Given the description of an element on the screen output the (x, y) to click on. 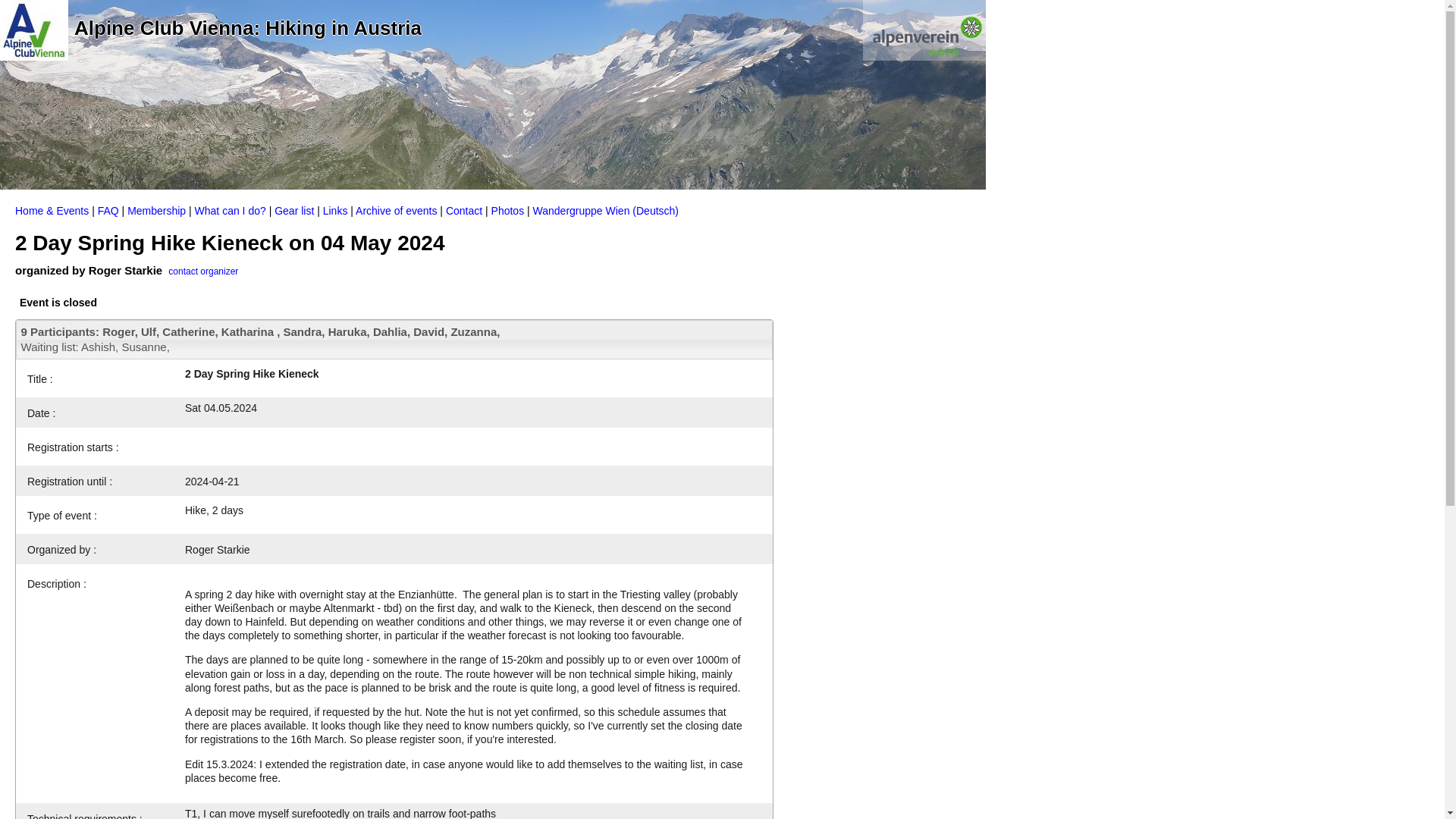
Gear list (294, 210)
What can I do? (230, 210)
Photos (508, 210)
Links (335, 210)
Contact (463, 210)
Archive of events (395, 210)
contact organizer (203, 270)
FAQ (108, 210)
Membership (157, 210)
